Given the description of an element on the screen output the (x, y) to click on. 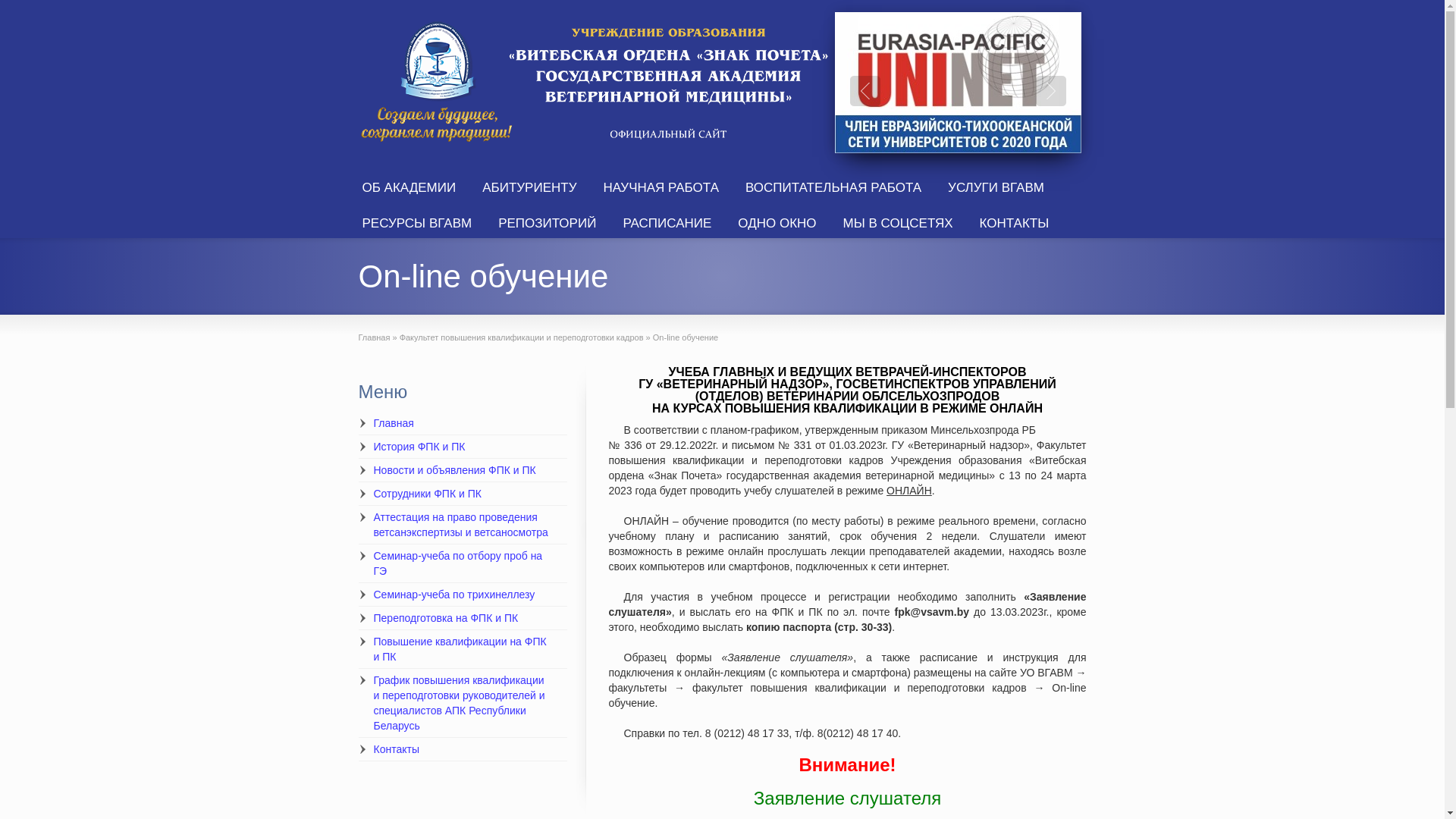
Prev Element type: text (864, 90)
Next Element type: text (1050, 90)
